Given the description of an element on the screen output the (x, y) to click on. 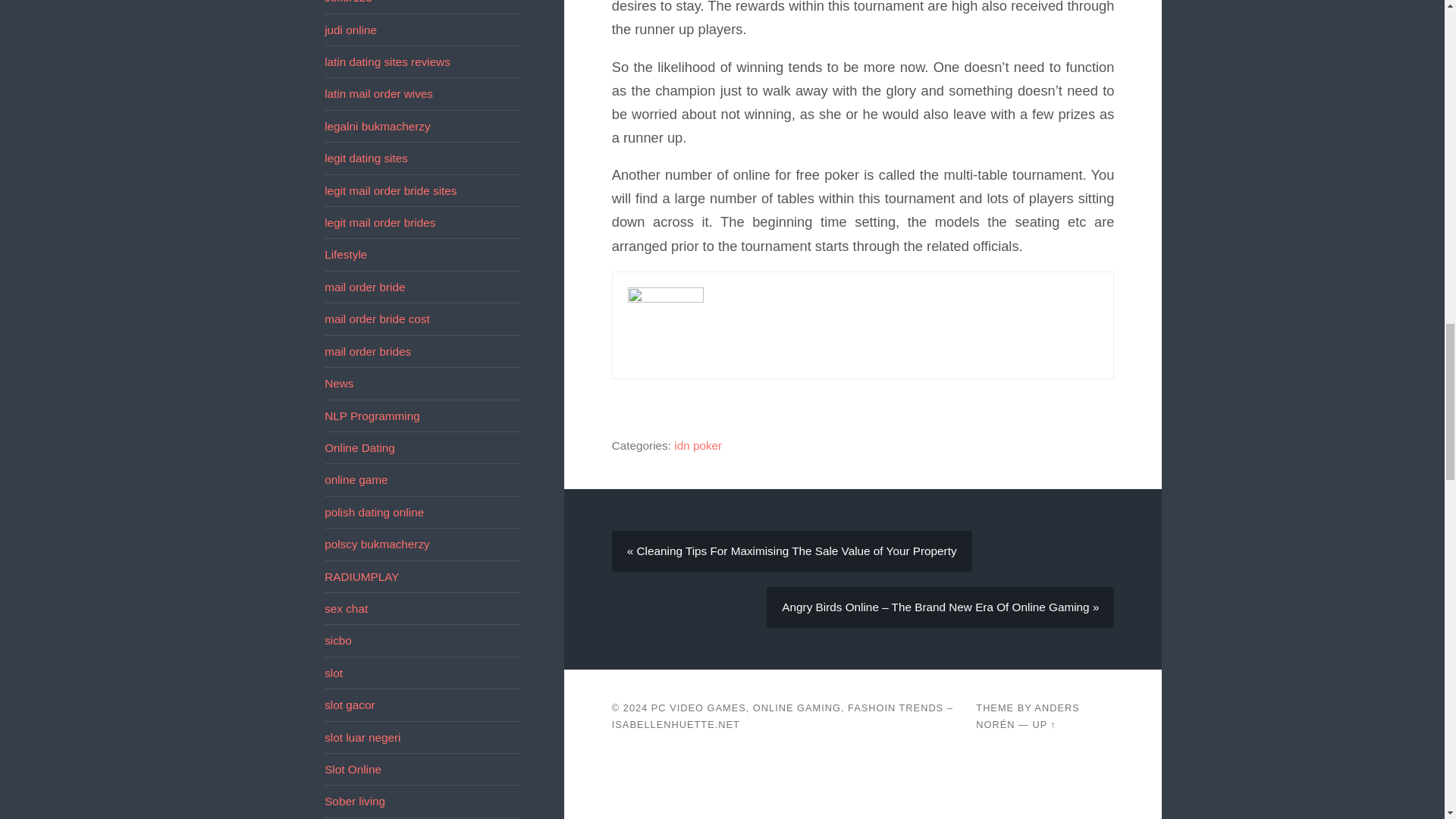
judi online (350, 29)
Joker123 (348, 2)
latin dating sites reviews (386, 61)
